Given the description of an element on the screen output the (x, y) to click on. 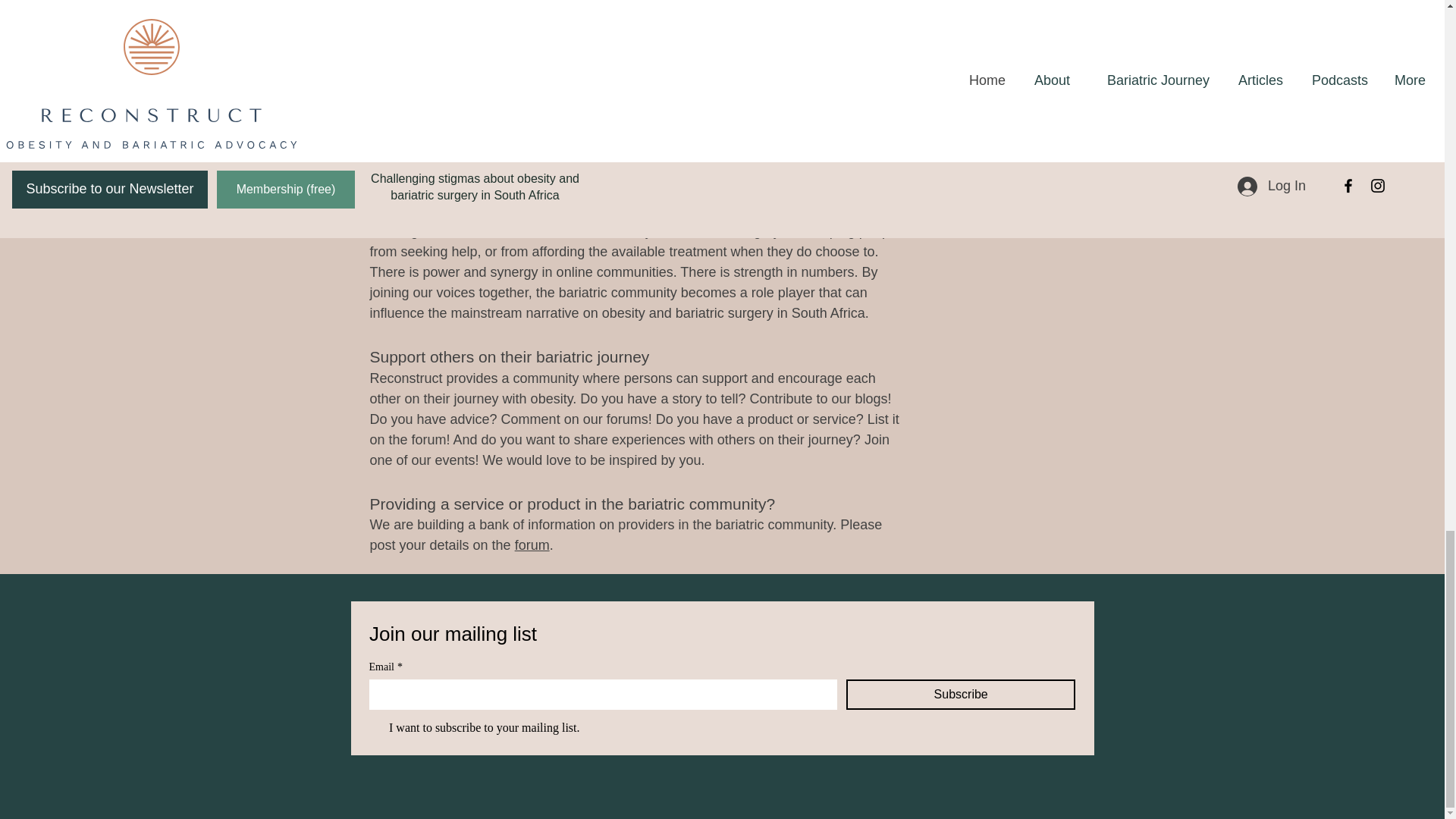
Take hands with us (239, 7)
forum (532, 544)
Subscribe (960, 694)
